Given the description of an element on the screen output the (x, y) to click on. 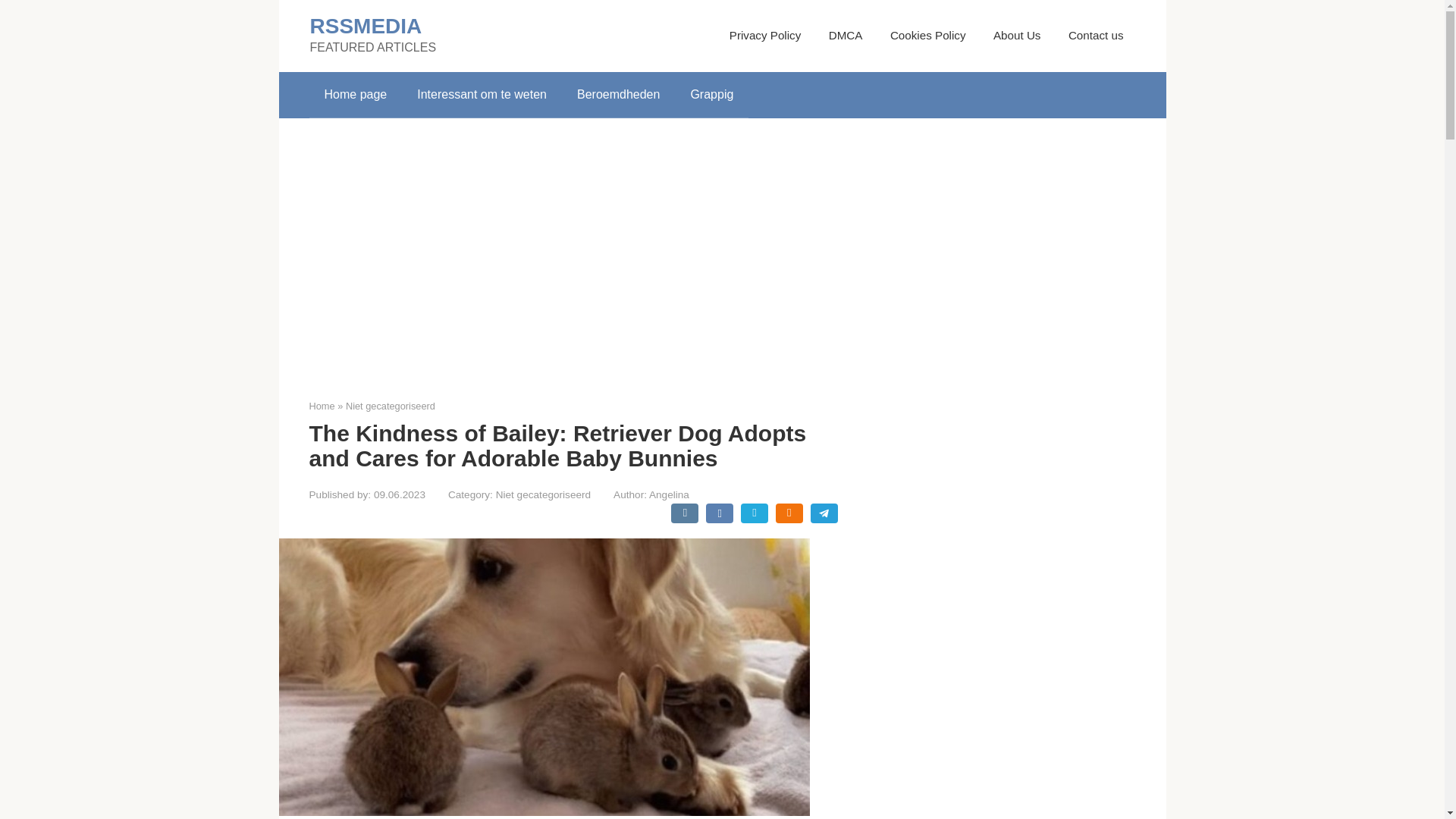
Cookies Policy (927, 35)
Home page (355, 94)
Contact us (1096, 35)
Grappig (711, 94)
RSSMEDIA (365, 25)
Niet gecategoriseerd (390, 405)
Beroemdheden (618, 94)
Home (321, 405)
DMCA (845, 35)
About Us (1016, 35)
Niet gecategoriseerd (543, 494)
Interessant om te weten (481, 94)
Privacy Policy (765, 35)
